Given the description of an element on the screen output the (x, y) to click on. 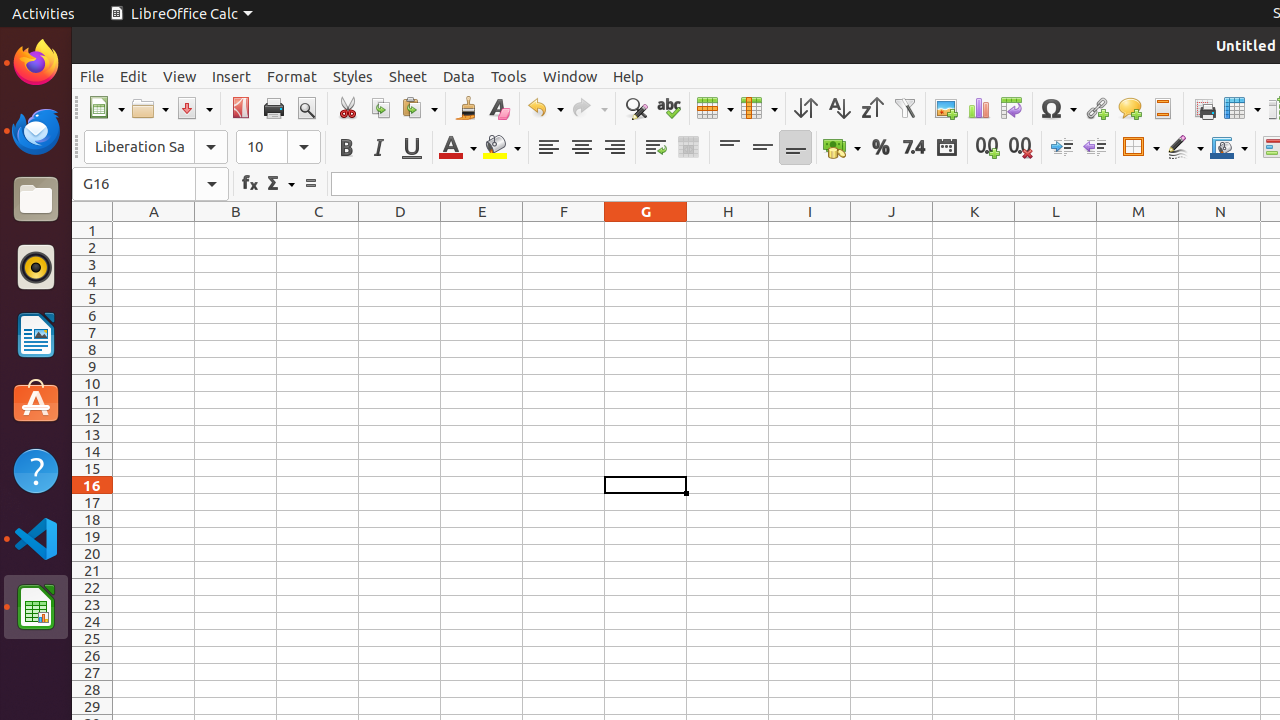
Wrap Text Element type: push-button (655, 147)
LibreOffice Calc Element type: push-button (36, 607)
File Element type: menu (92, 76)
Spelling Element type: push-button (668, 108)
Align Right Element type: push-button (614, 147)
